Given the description of an element on the screen output the (x, y) to click on. 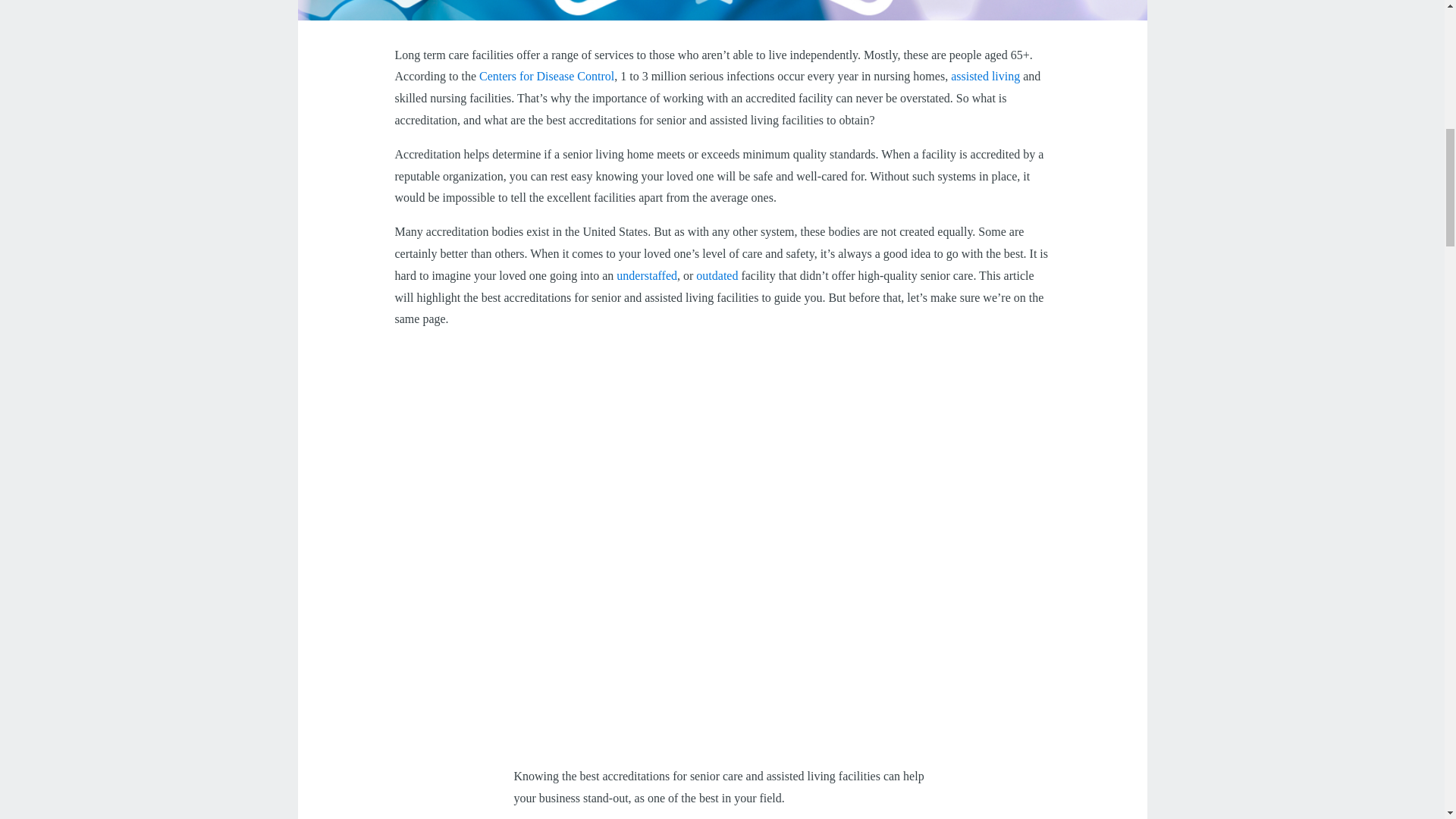
outdated (716, 275)
understaffed (646, 275)
assisted living (985, 75)
Centers for Disease Control (546, 75)
